Given the description of an element on the screen output the (x, y) to click on. 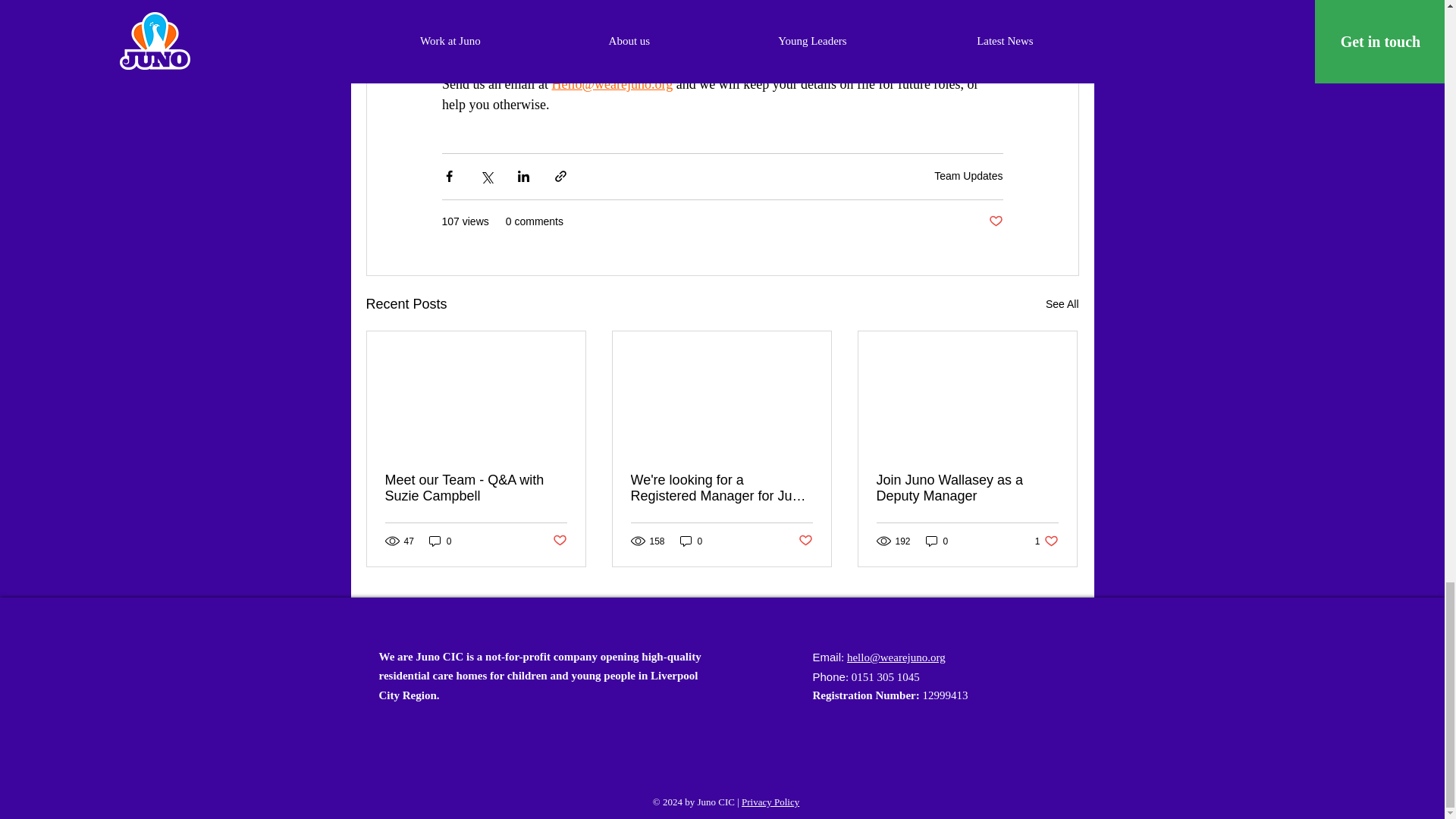
0 (691, 540)
Facebook page (761, 17)
Post not marked as liked (995, 221)
See All (1061, 304)
We're looking for a Registered Manager for Juno New Brighton (721, 488)
Post not marked as liked (558, 540)
0 (440, 540)
Team Updates (968, 175)
